Given the description of an element on the screen output the (x, y) to click on. 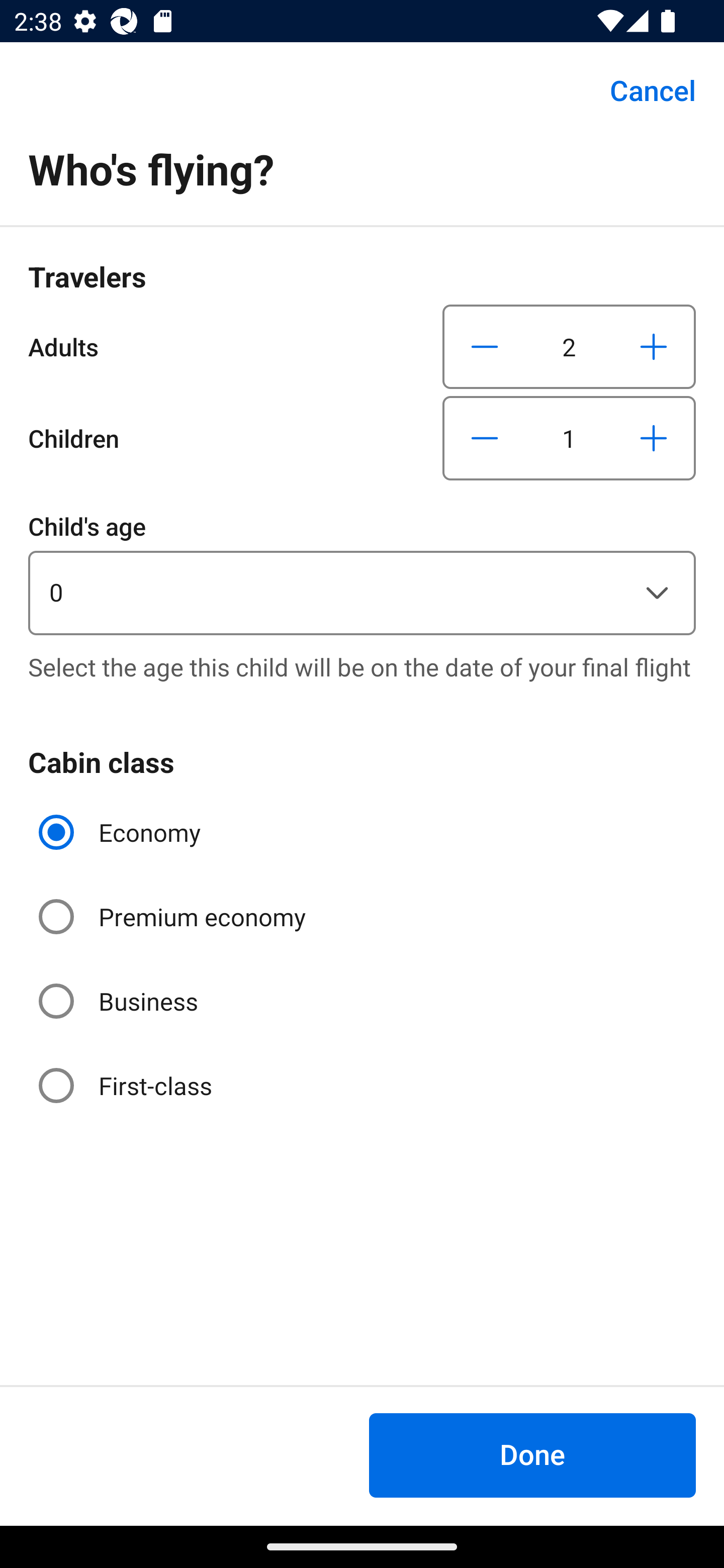
Cancel (641, 90)
Decrease (484, 346)
Increase (653, 346)
Decrease (484, 437)
Increase (653, 437)
Child's age
 Child's age 0 (361, 571)
Economy (121, 832)
Premium economy (174, 916)
Business (120, 1000)
First-class (126, 1084)
Done (532, 1454)
